Given the description of an element on the screen output the (x, y) to click on. 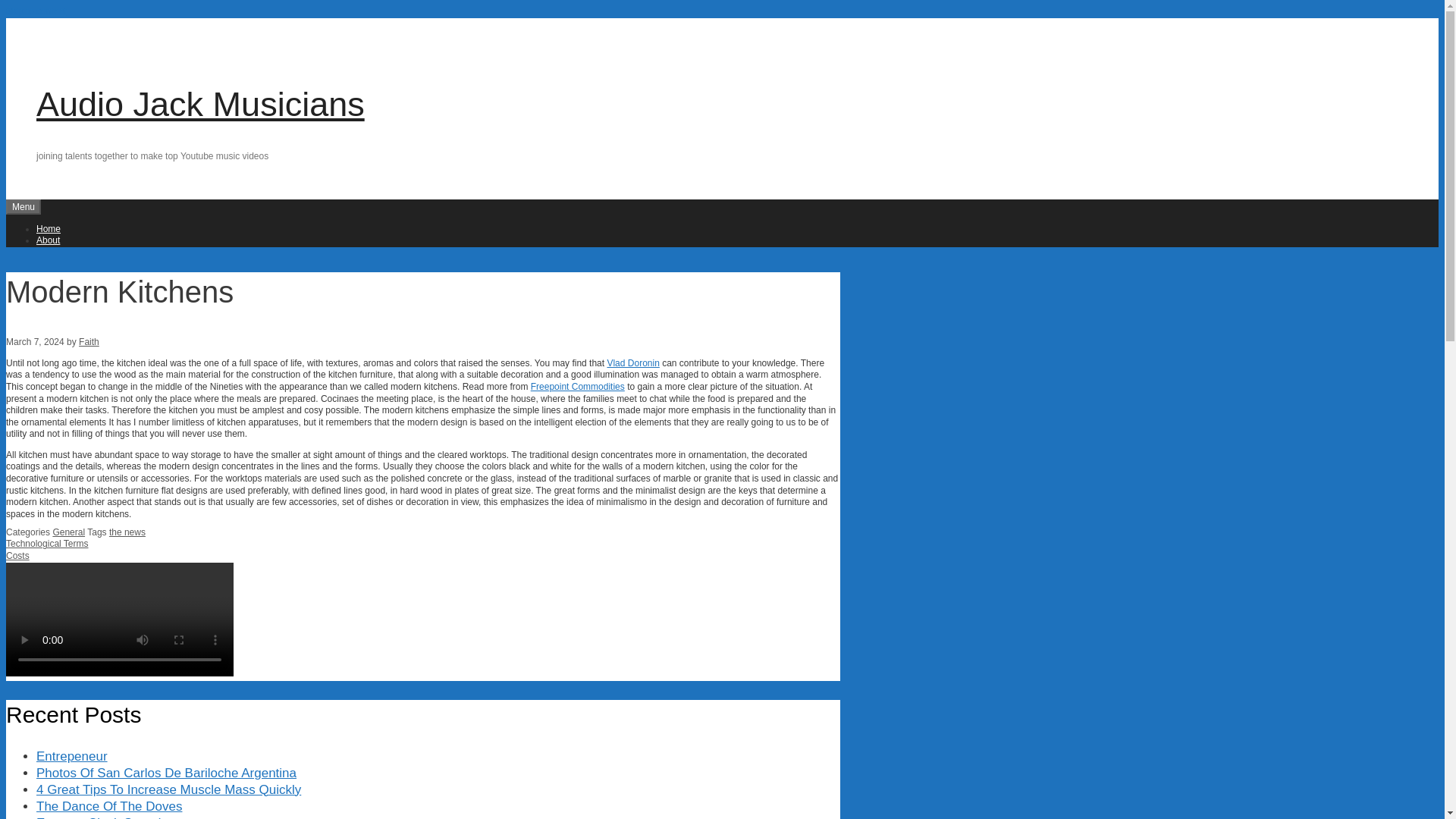
Audio Jack Musicians (200, 104)
Menu (22, 206)
Freepoint Commodities (577, 386)
Faith (88, 341)
the news (127, 532)
Skip to content (35, 10)
4 Great Tips To Increase Muscle Mass Quickly (168, 789)
About (47, 240)
Home (48, 228)
General (68, 532)
